Given the description of an element on the screen output the (x, y) to click on. 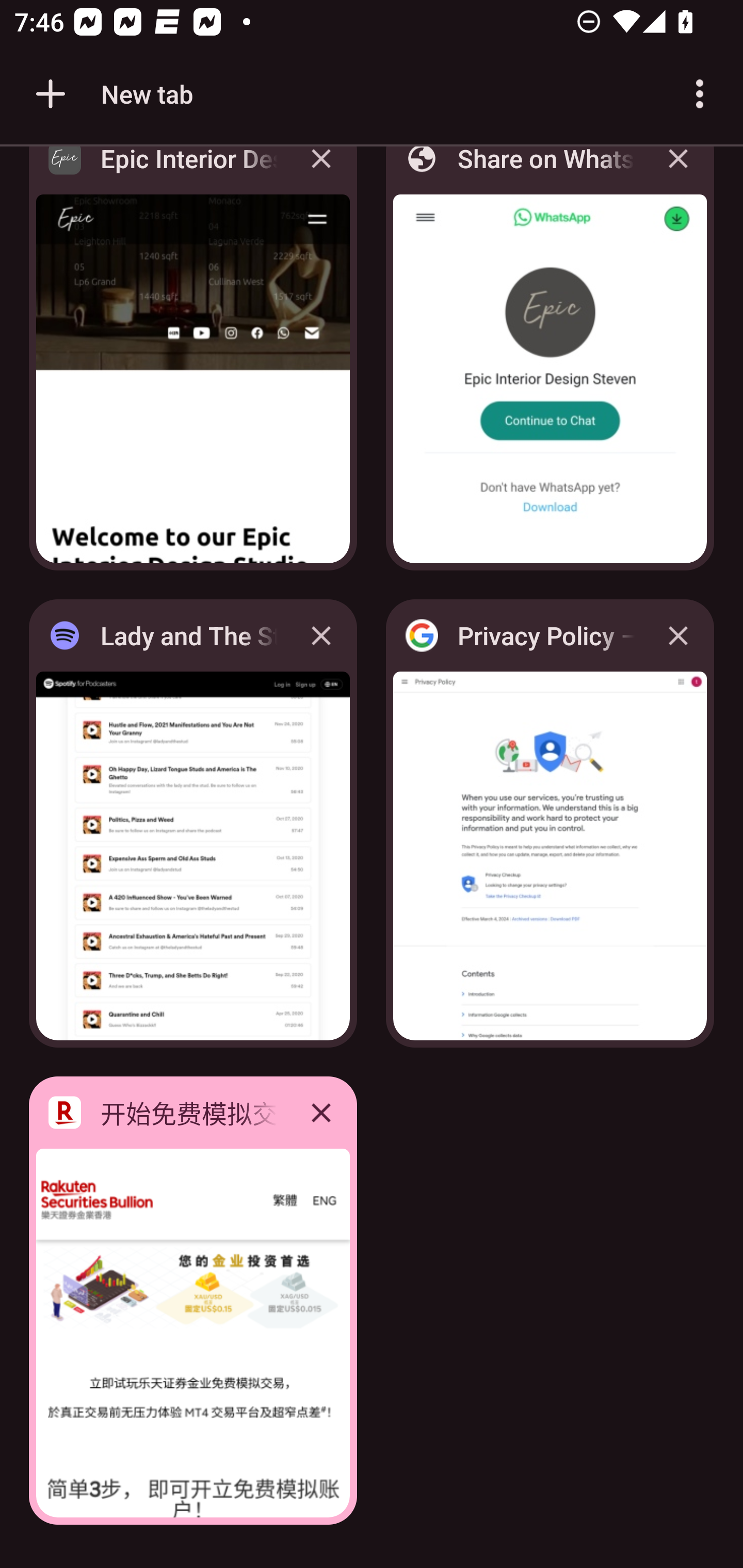
New tab (111, 93)
Customize and control Google Chrome (699, 93)
Close Share on WhatsApp tab (677, 173)
Close 开始免费模拟交易 | 乐天证券金业 tab (320, 1112)
